Given the description of an element on the screen output the (x, y) to click on. 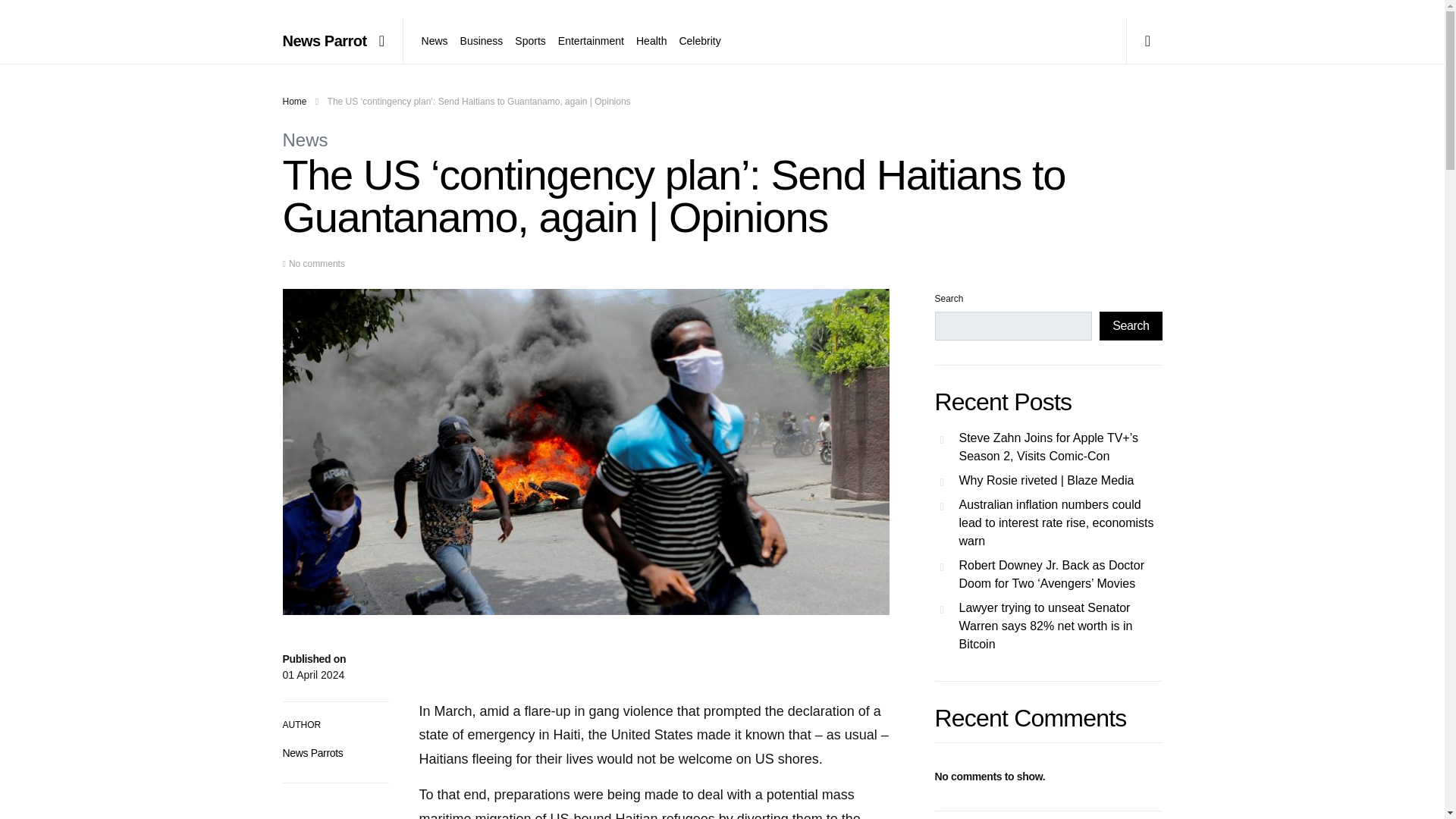
News Parrot (324, 40)
News (304, 139)
News Parrots (312, 752)
No comments (316, 264)
Entertainment (590, 40)
Health (651, 40)
Home (293, 101)
Celebrity (696, 40)
Business (481, 40)
Sports (529, 40)
